Given the description of an element on the screen output the (x, y) to click on. 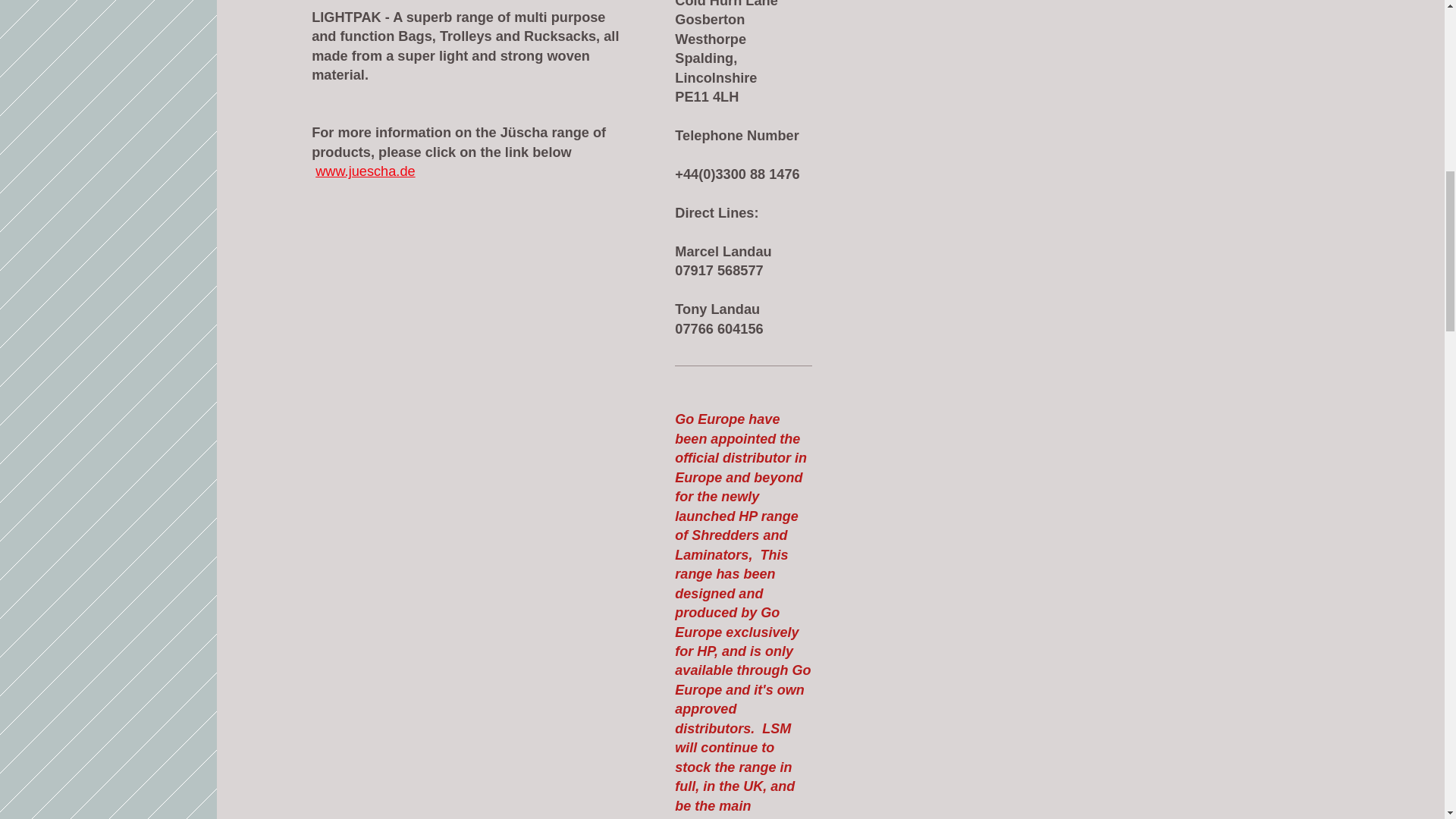
www.juescha.de (364, 171)
